Given the description of an element on the screen output the (x, y) to click on. 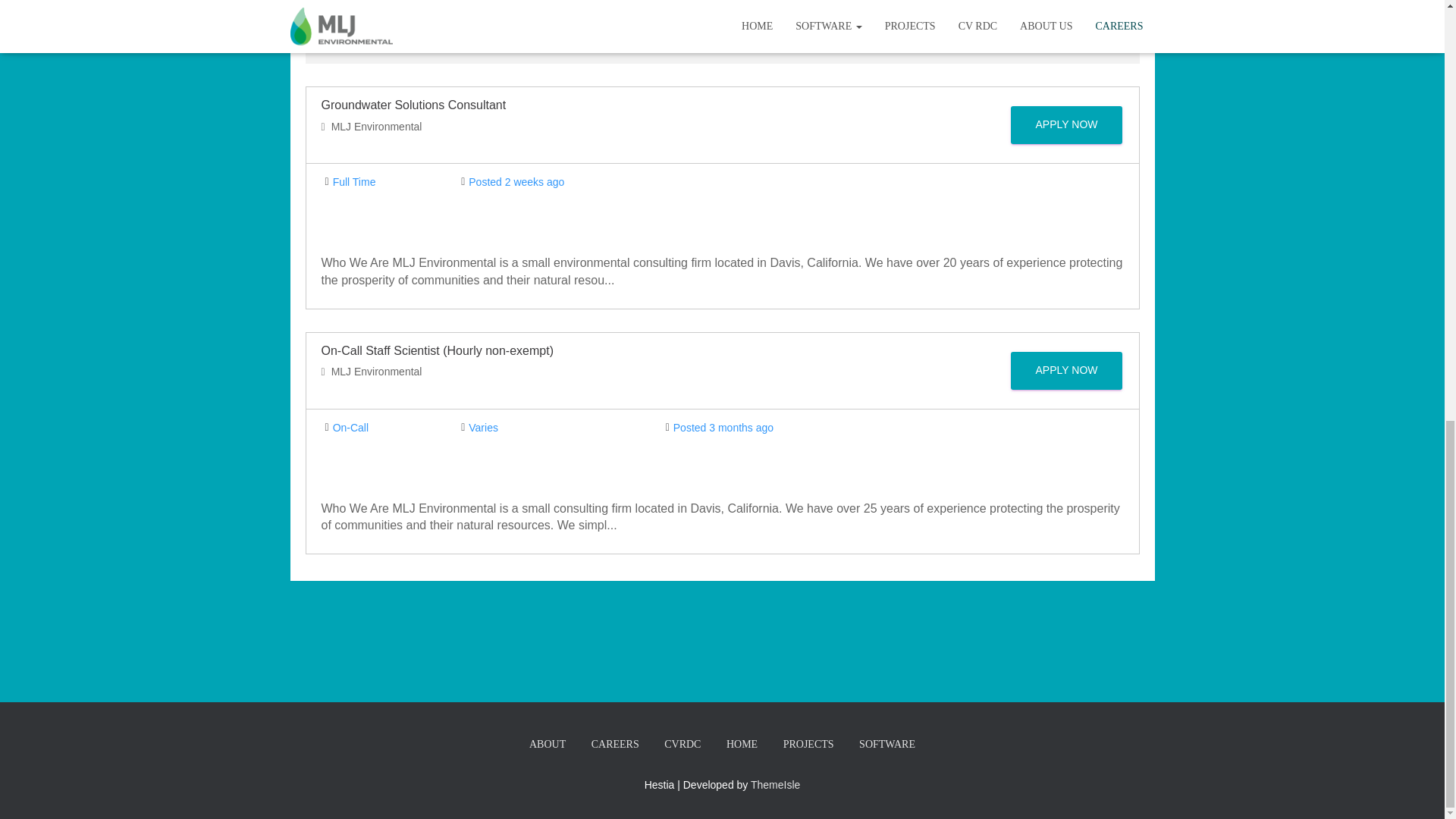
ThemeIsle (775, 784)
CAREERS (614, 744)
APPLY NOW (1066, 125)
SOFTWARE (886, 744)
ABOUT (547, 744)
PROJECTS (808, 744)
CVRDC (681, 744)
HOME (741, 744)
Groundwater Solutions Consultant (413, 104)
APPLY NOW (1066, 370)
